Given the description of an element on the screen output the (x, y) to click on. 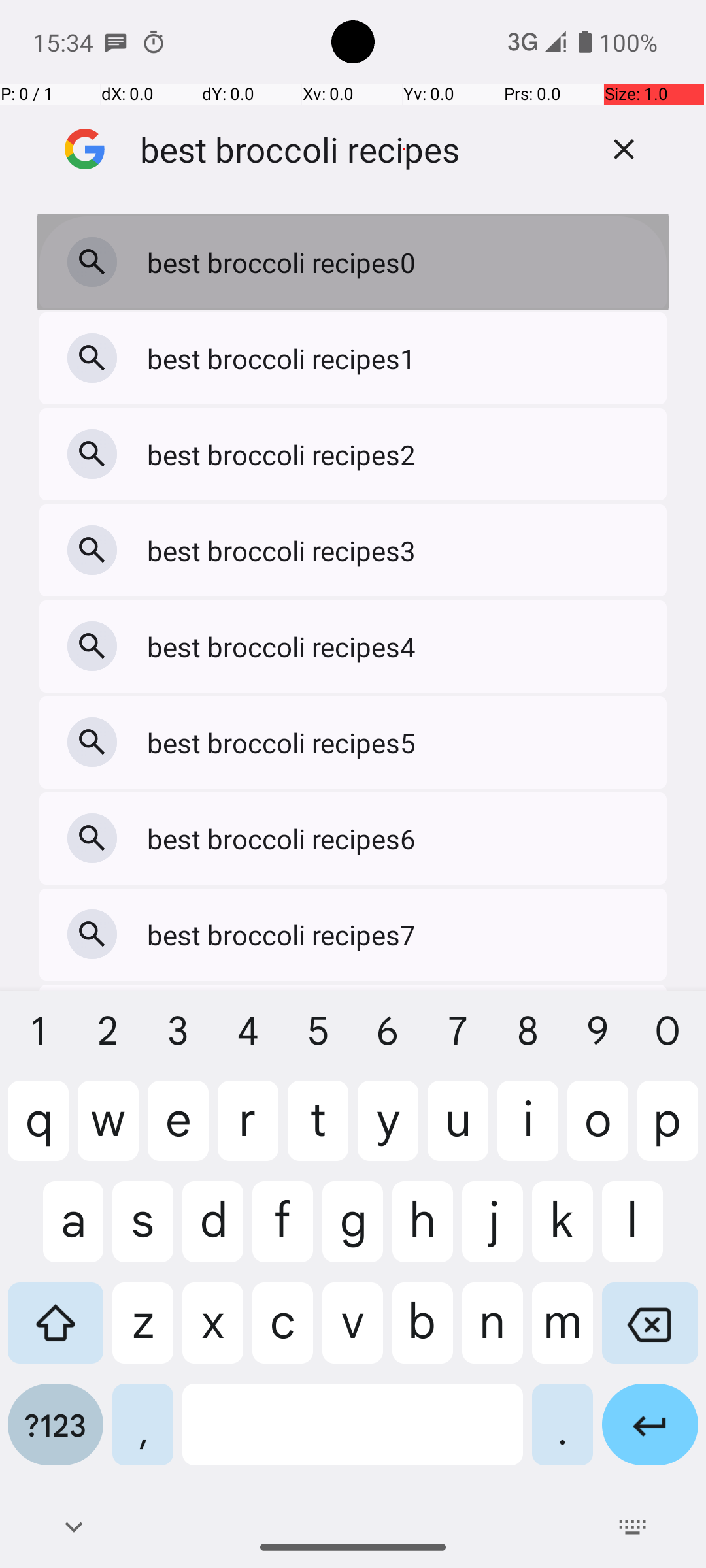
best broccoli recipes Element type: android.widget.EditText (359, 148)
Clear search box Element type: android.widget.ImageButton (623, 149)
best broccoli recipes0 Element type: android.widget.TextView (285, 261)
best broccoli recipes1 Element type: android.widget.TextView (285, 357)
best broccoli recipes2 Element type: android.widget.TextView (285, 454)
best broccoli recipes3 Element type: android.widget.TextView (285, 550)
best broccoli recipes4 Element type: android.widget.TextView (285, 646)
best broccoli recipes5 Element type: android.widget.TextView (285, 742)
best broccoli recipes6 Element type: android.widget.TextView (285, 838)
best broccoli recipes7 Element type: android.widget.TextView (285, 934)
